Given the description of an element on the screen output the (x, y) to click on. 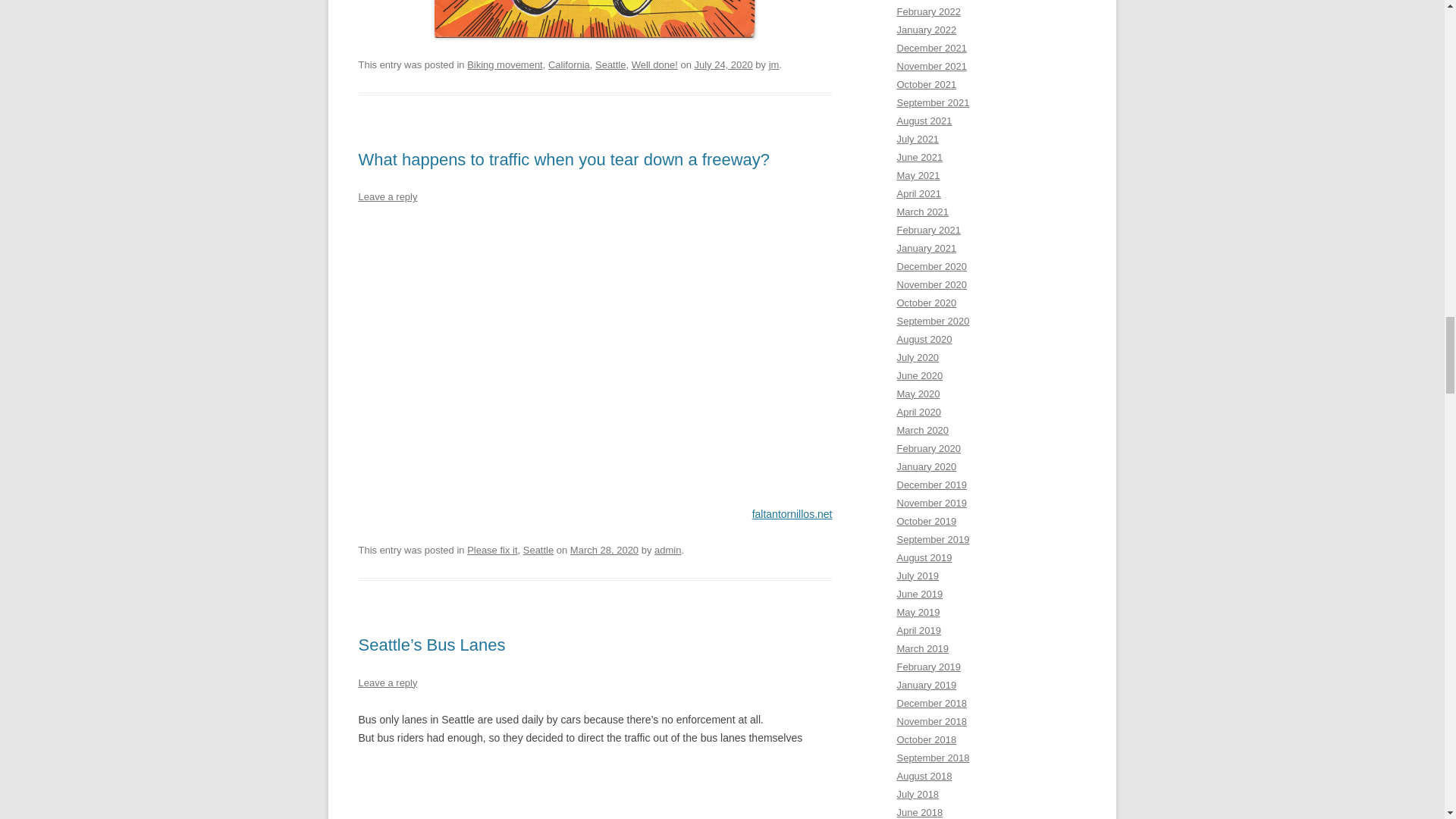
Seattle (610, 64)
Biking movement (505, 64)
View all posts by jm (773, 64)
California (568, 64)
View all posts by admin (667, 550)
12:00 am (604, 550)
12:00 pm (723, 64)
